Given the description of an element on the screen output the (x, y) to click on. 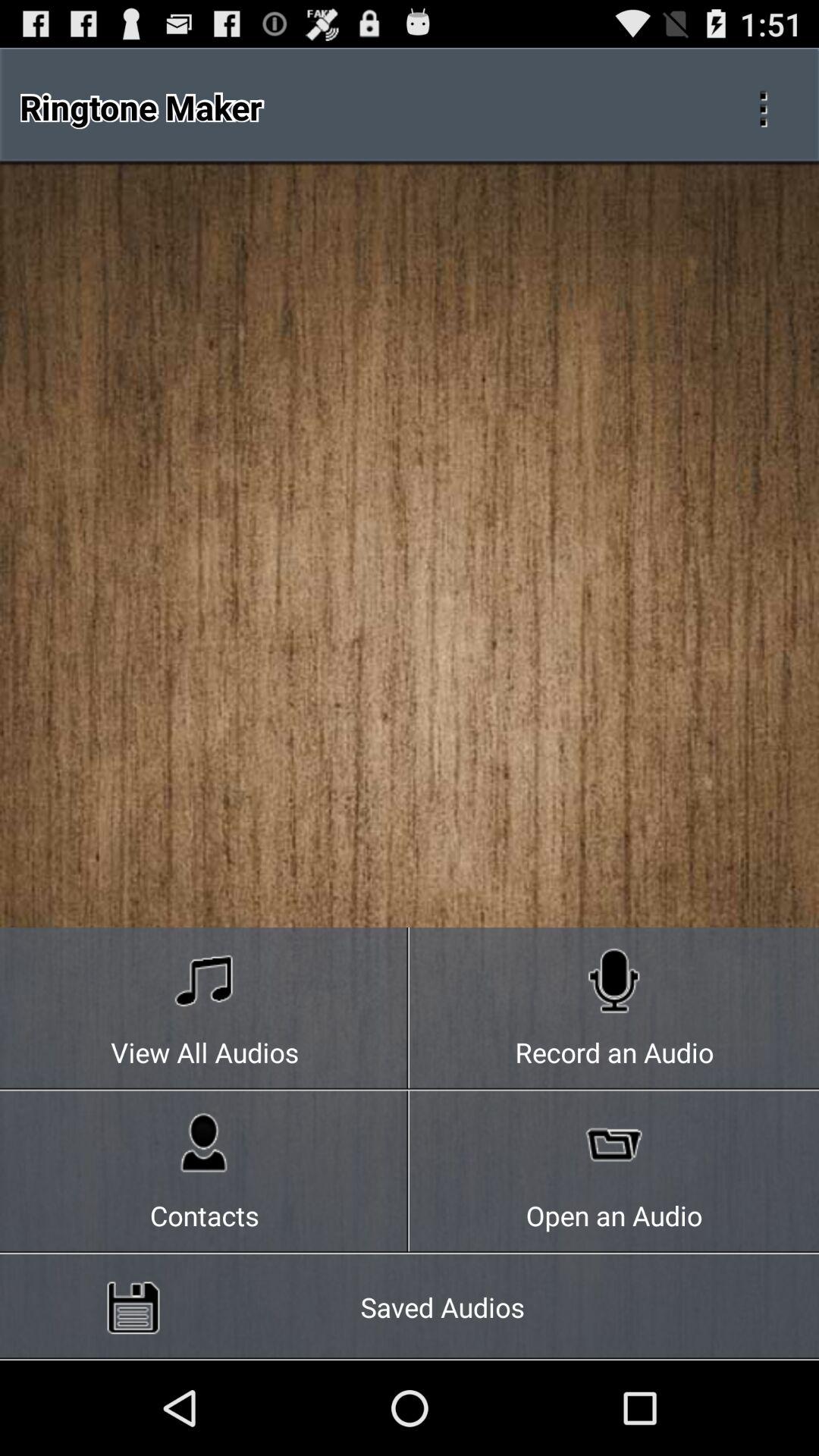
open button below the view all audios button (204, 1172)
